Given the description of an element on the screen output the (x, y) to click on. 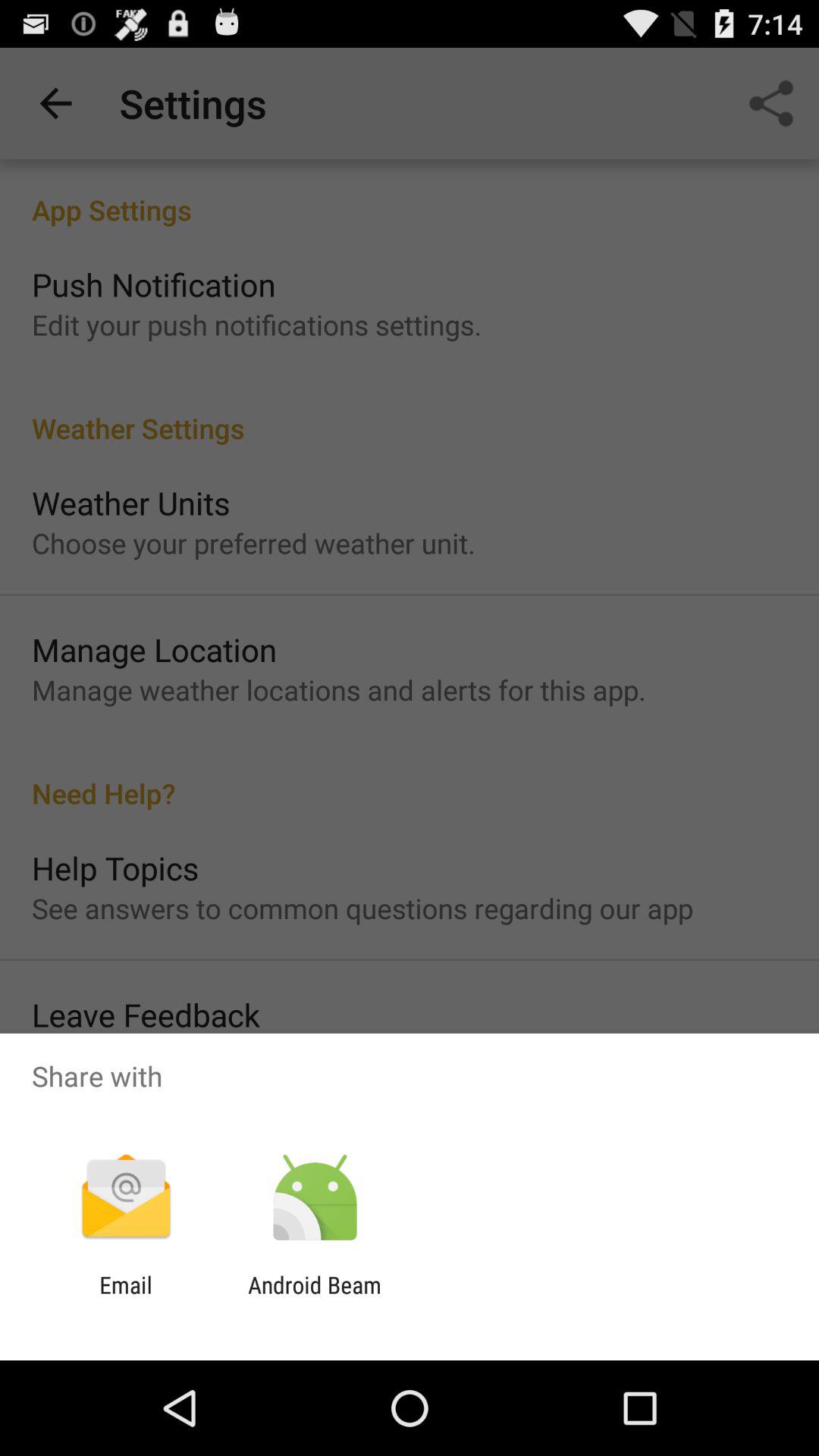
select the item next to the email (314, 1298)
